Given the description of an element on the screen output the (x, y) to click on. 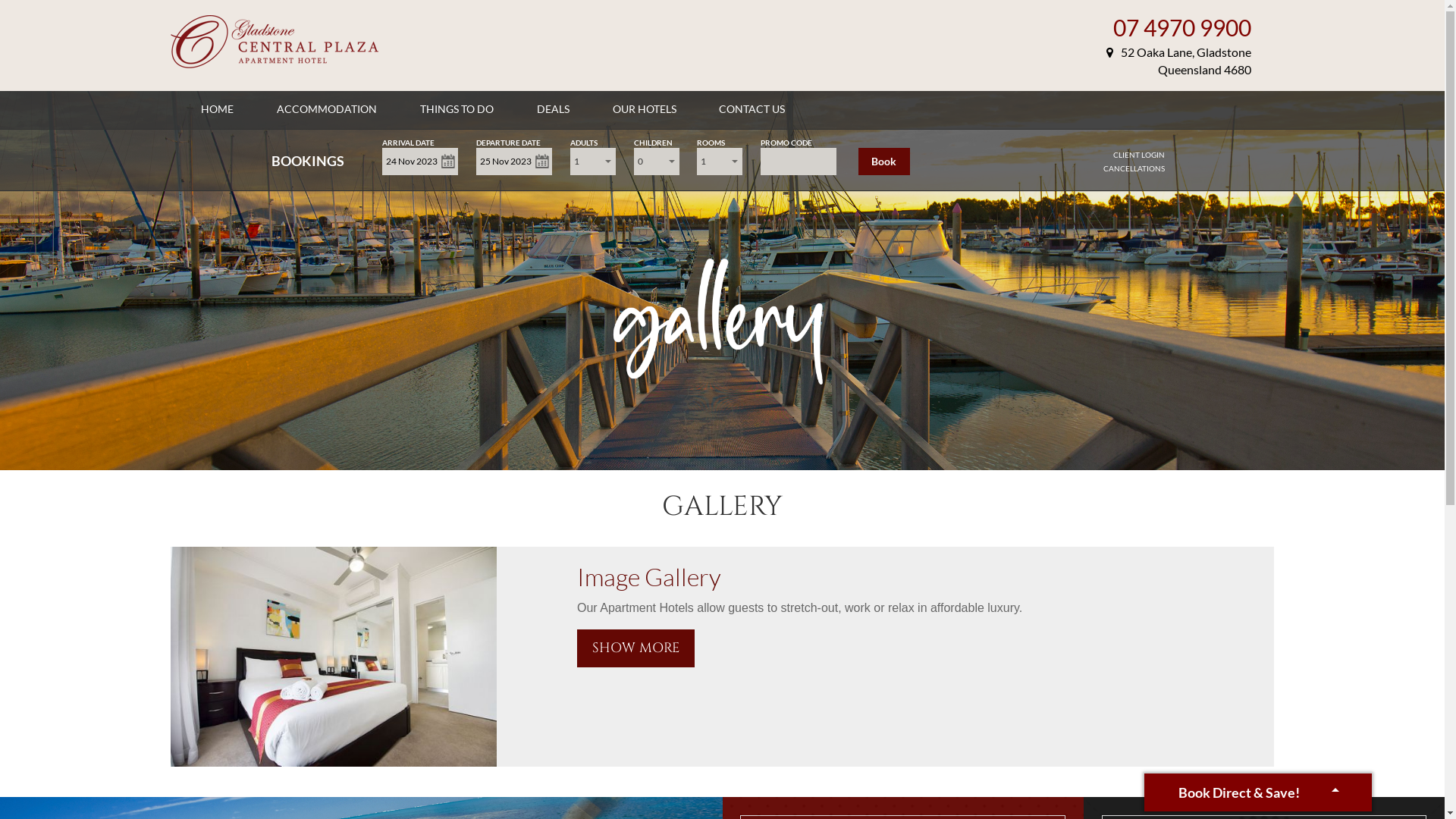
CANCELLATIONS Element type: text (1133, 167)
Book Element type: text (884, 161)
SHOW MORE Element type: text (635, 648)
CONTACT US Element type: text (751, 109)
07 4970 9900 Element type: text (1182, 26)
CLIENT LOGIN Element type: text (1138, 154)
THINGS TO DO Element type: text (456, 109)
OUR HOTELS Element type: text (644, 109)
DEALS Element type: text (552, 109)
52 Oaka Lane, Gladstone
Queensland 4680 Element type: text (1178, 60)
HOME Element type: text (216, 109)
ACCOMMODATION Element type: text (326, 109)
Image Gallery Element type: text (649, 576)
